Given the description of an element on the screen output the (x, y) to click on. 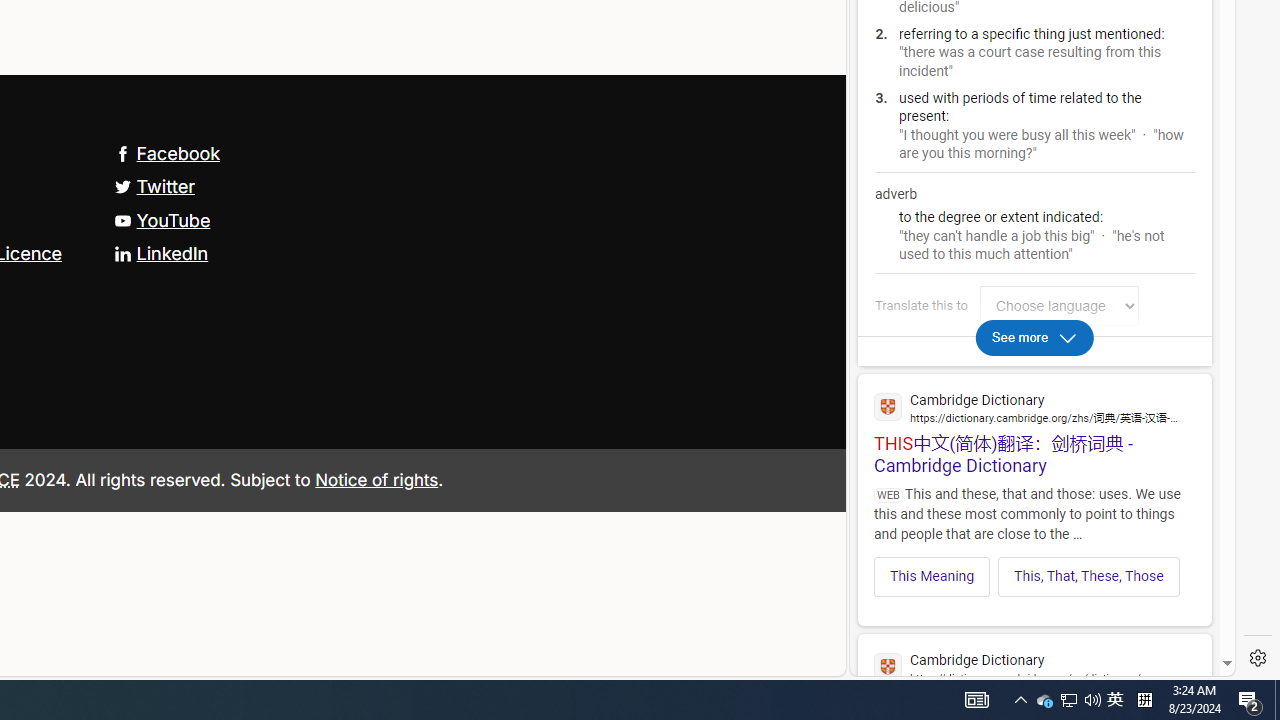
This Meaning (932, 575)
This Meaning (932, 575)
This, That, These, Those (1089, 575)
Twitter (154, 186)
